Given the description of an element on the screen output the (x, y) to click on. 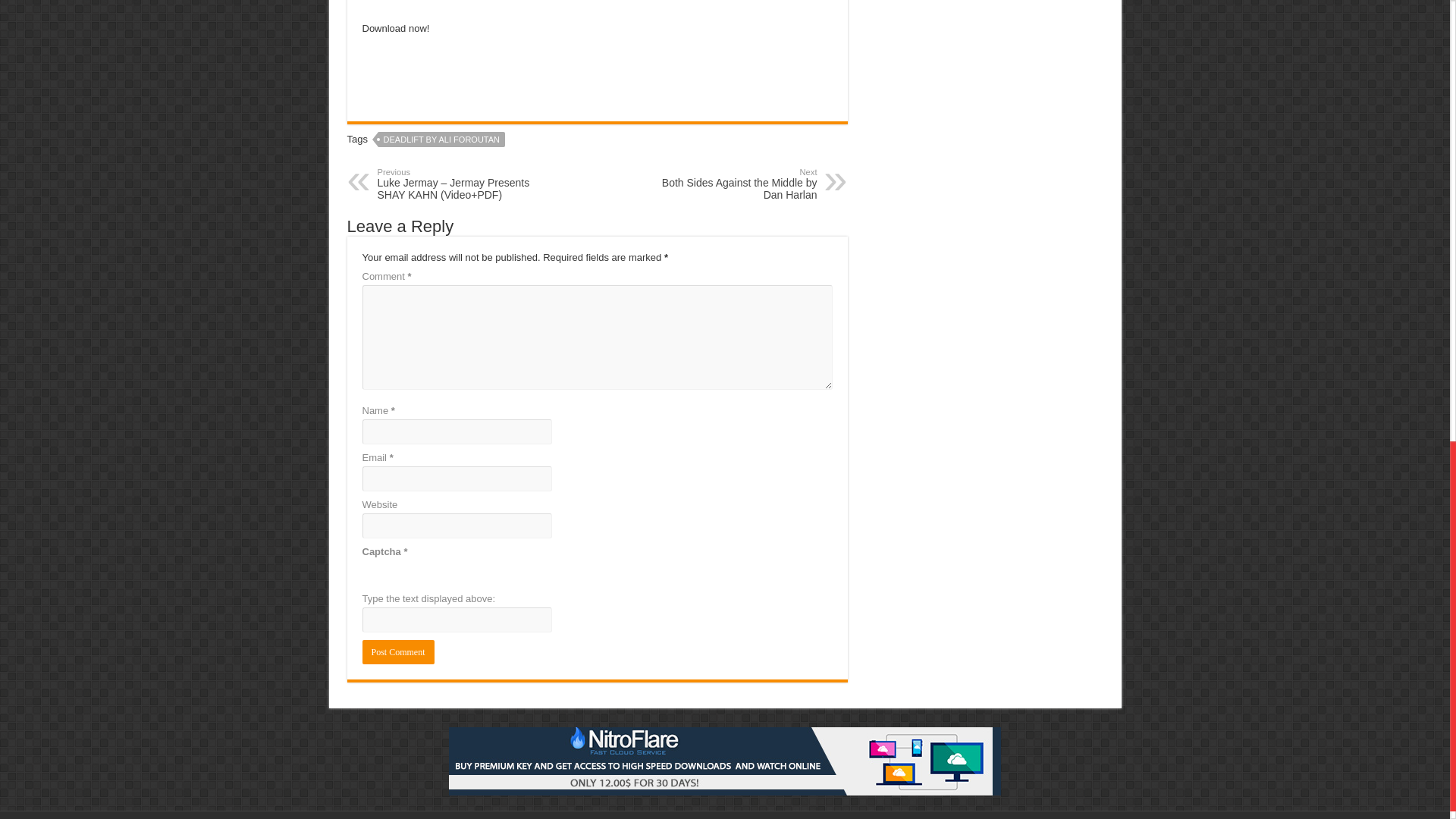
DEADLIFT BY ALI FOROUTAN (441, 139)
Post Comment (738, 183)
Post Comment (397, 651)
